Given the description of an element on the screen output the (x, y) to click on. 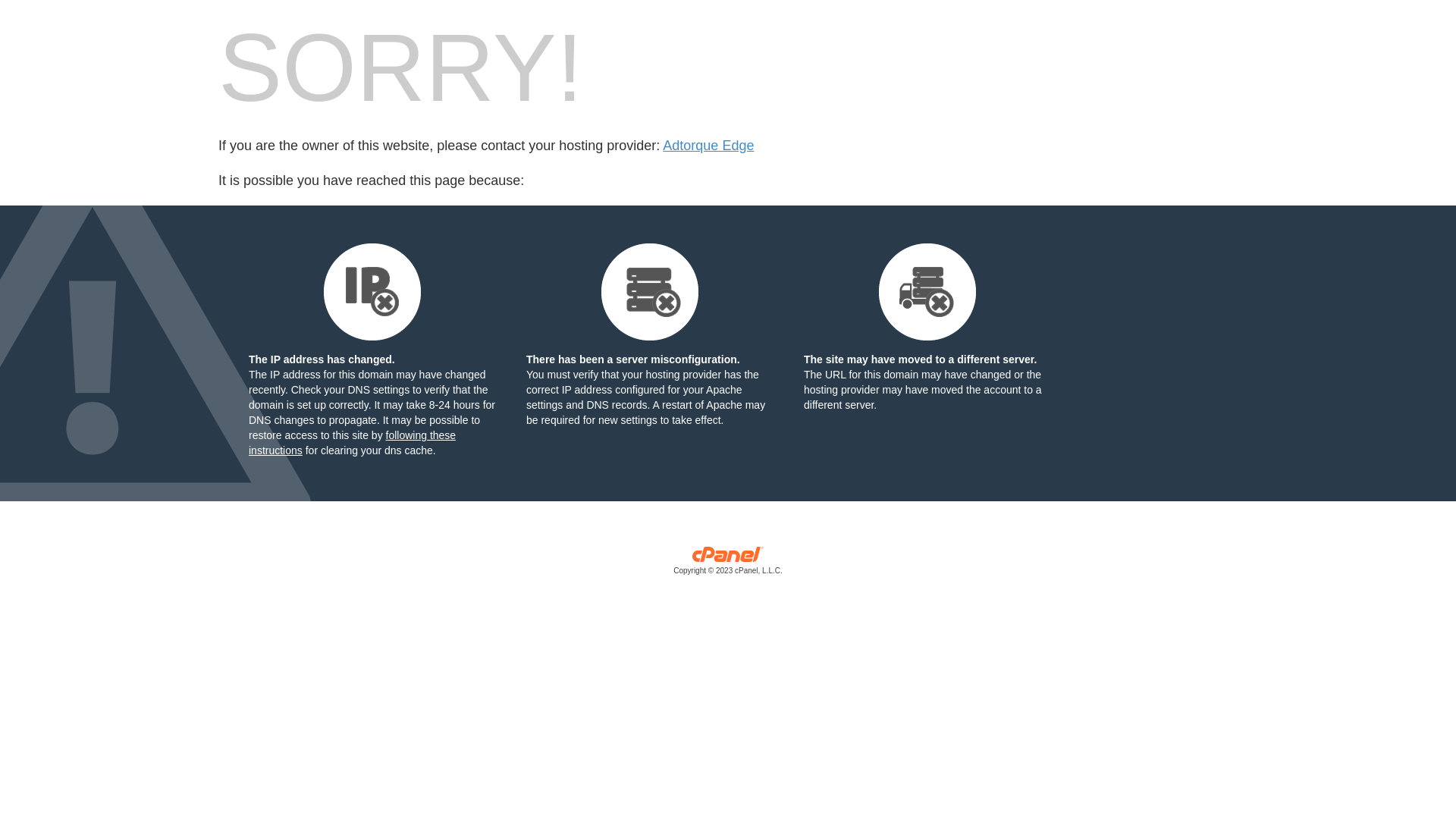
Adtorque Edge Element type: text (707, 145)
following these instructions Element type: text (351, 442)
